Given the description of an element on the screen output the (x, y) to click on. 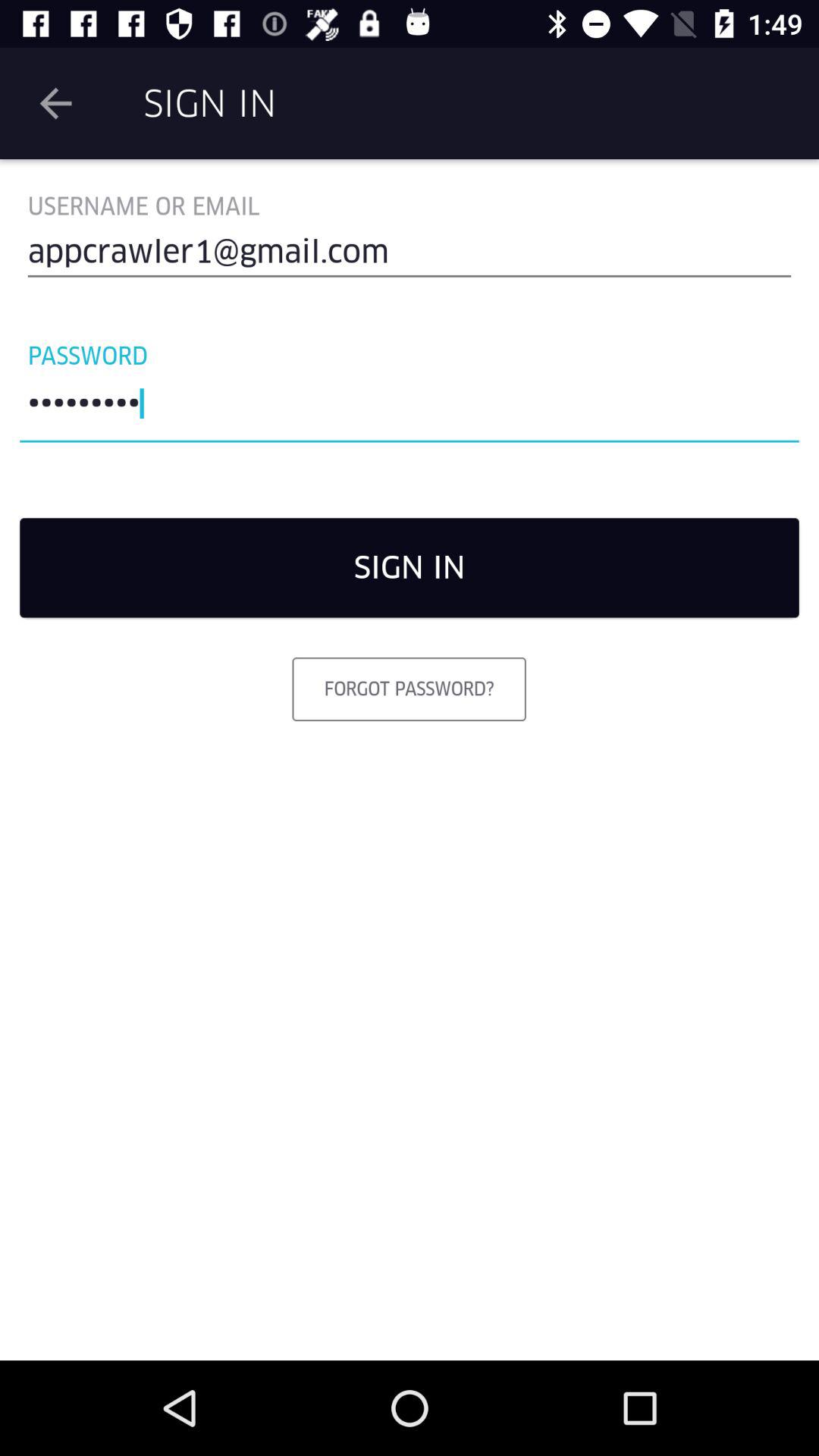
select the item to the left of the sign in icon (55, 103)
